Given the description of an element on the screen output the (x, y) to click on. 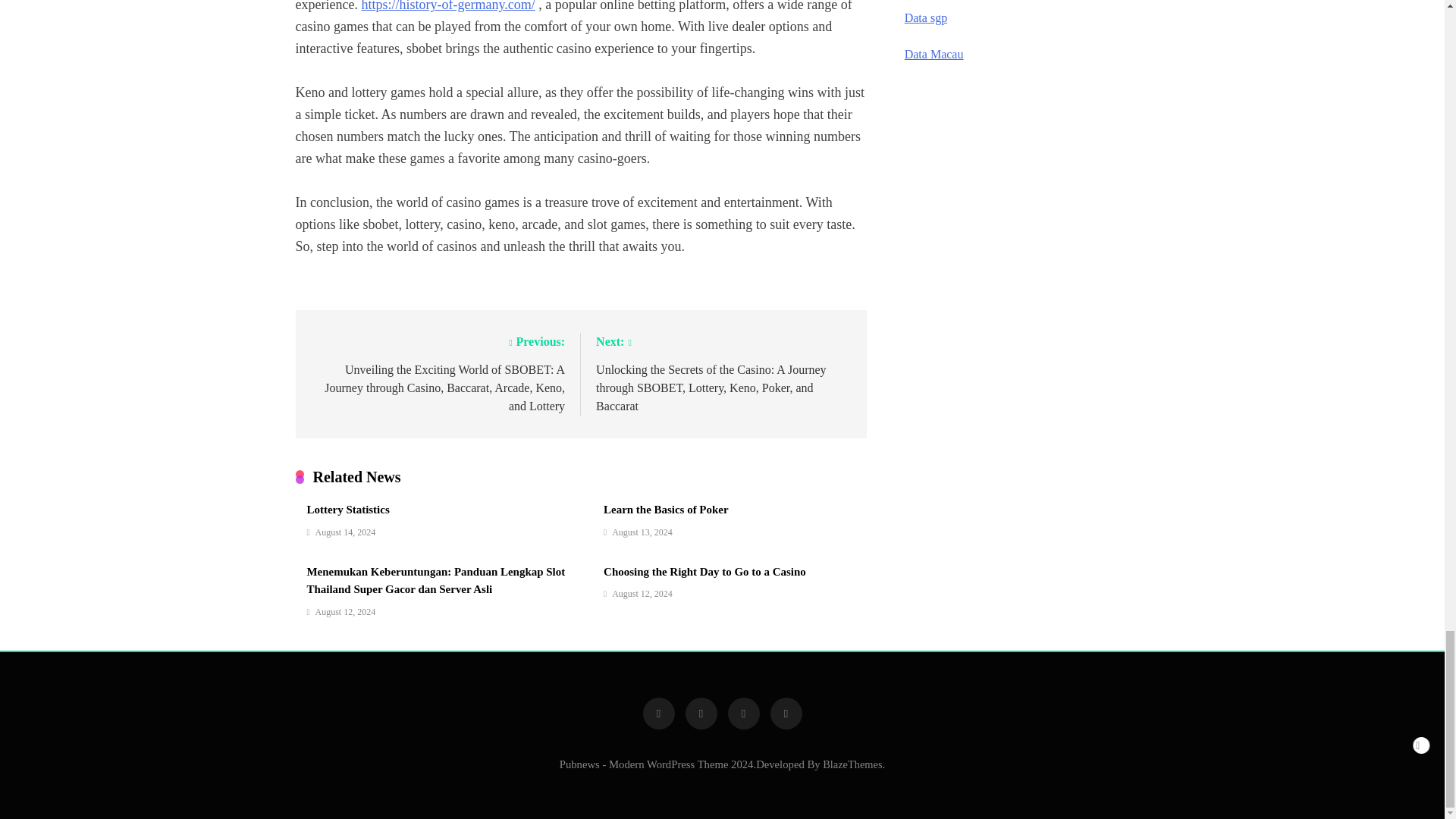
Learn the Basics of Poker (666, 509)
August 12, 2024 (641, 593)
August 13, 2024 (641, 532)
August 12, 2024 (345, 611)
Choosing the Right Day to Go to a Casino (705, 571)
August 14, 2024 (345, 532)
Lottery Statistics (346, 509)
